Given the description of an element on the screen output the (x, y) to click on. 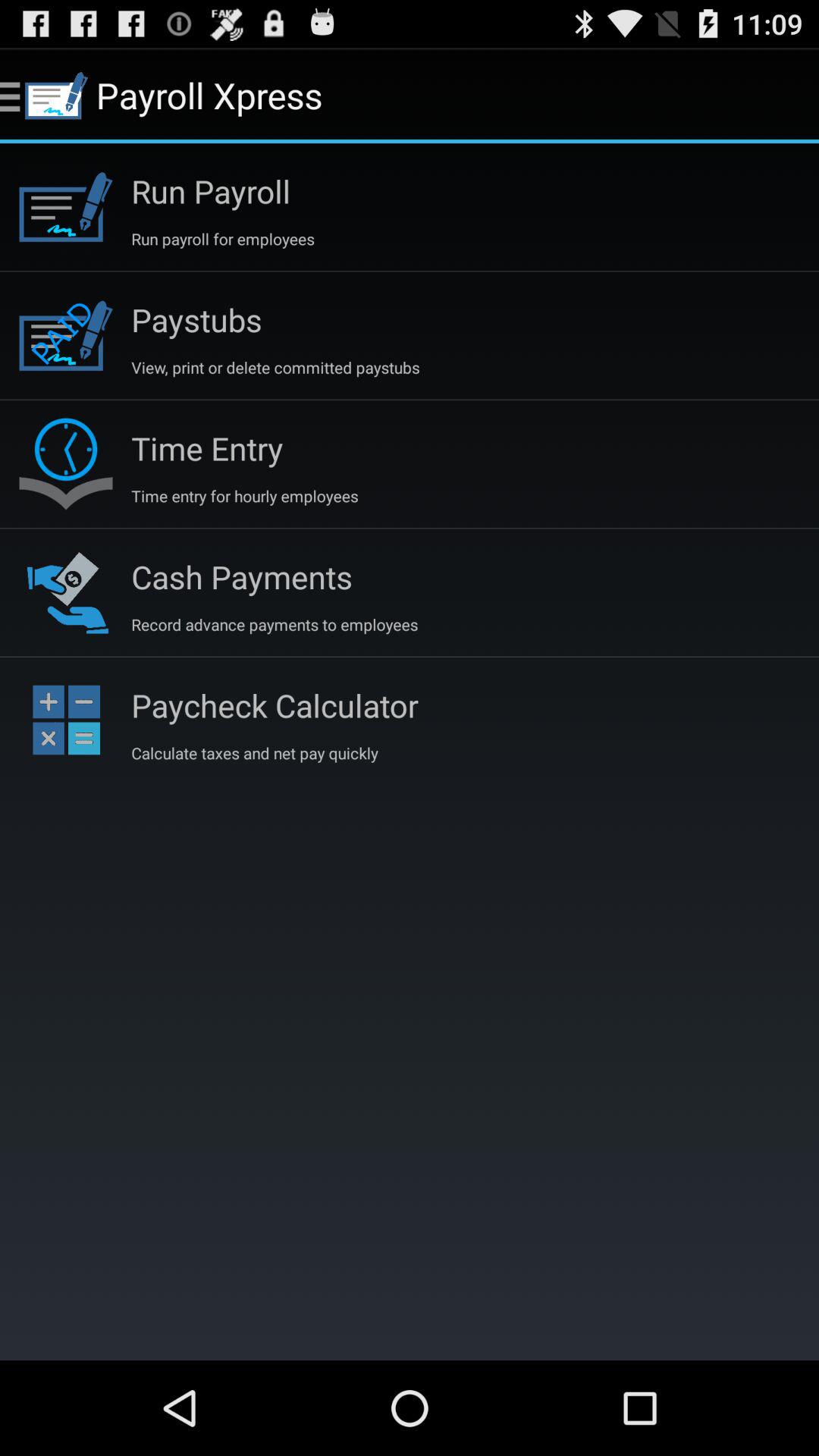
press the icon at the top (275, 367)
